Given the description of an element on the screen output the (x, y) to click on. 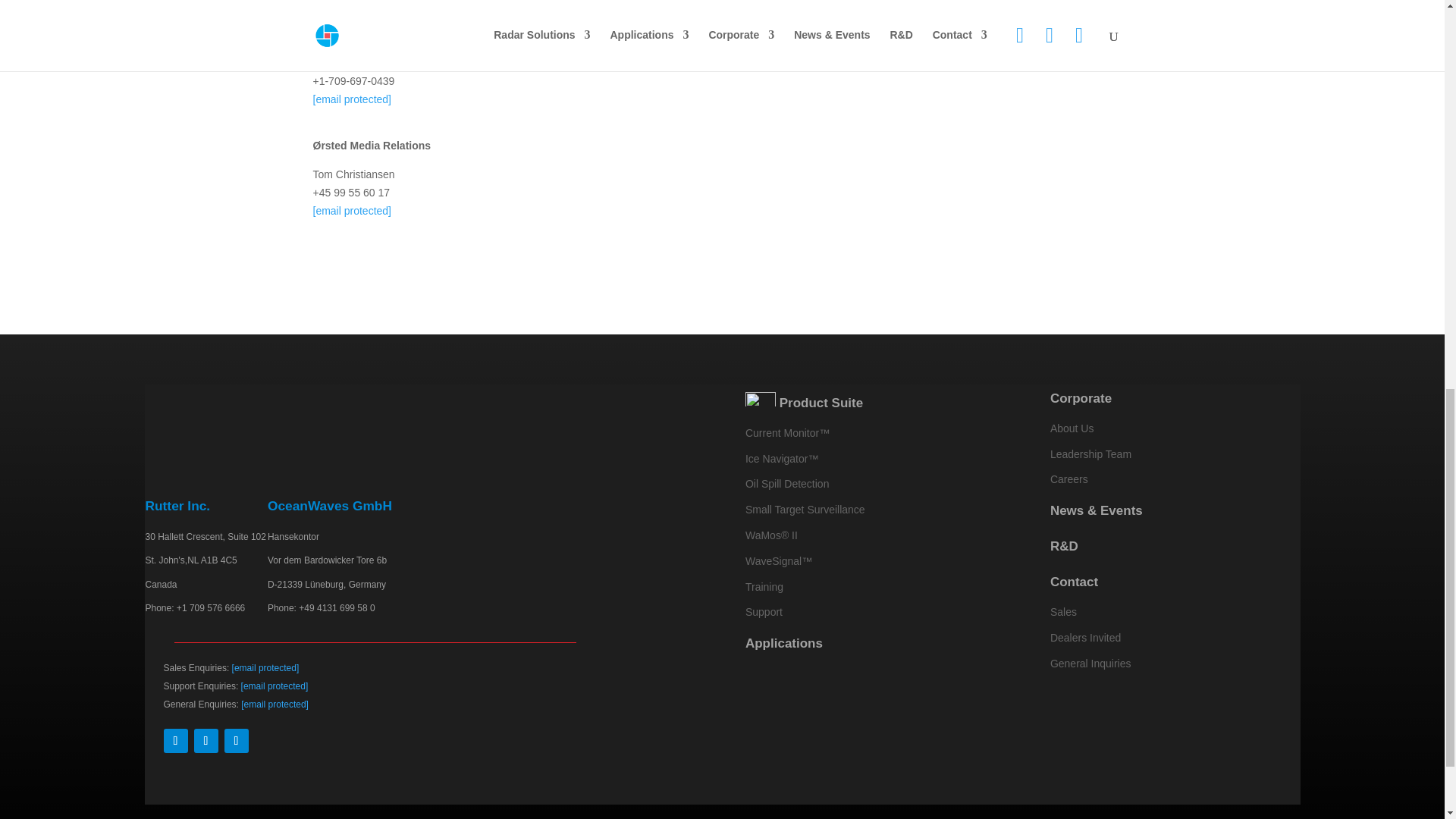
Follow on LinkedIn (205, 740)
Follow on X (236, 740)
Follow on Facebook (175, 740)
